Given the description of an element on the screen output the (x, y) to click on. 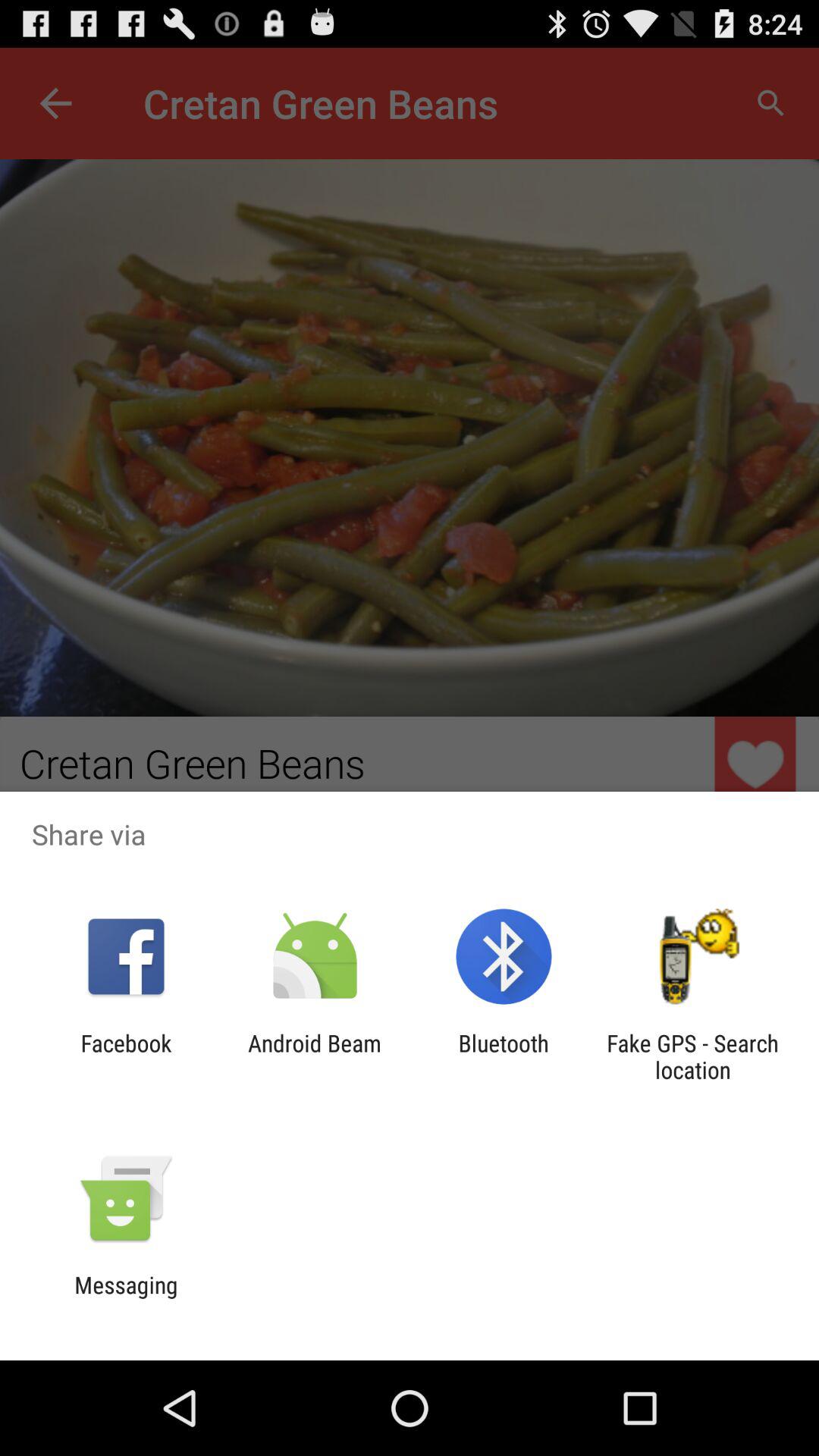
press android beam (314, 1056)
